Given the description of an element on the screen output the (x, y) to click on. 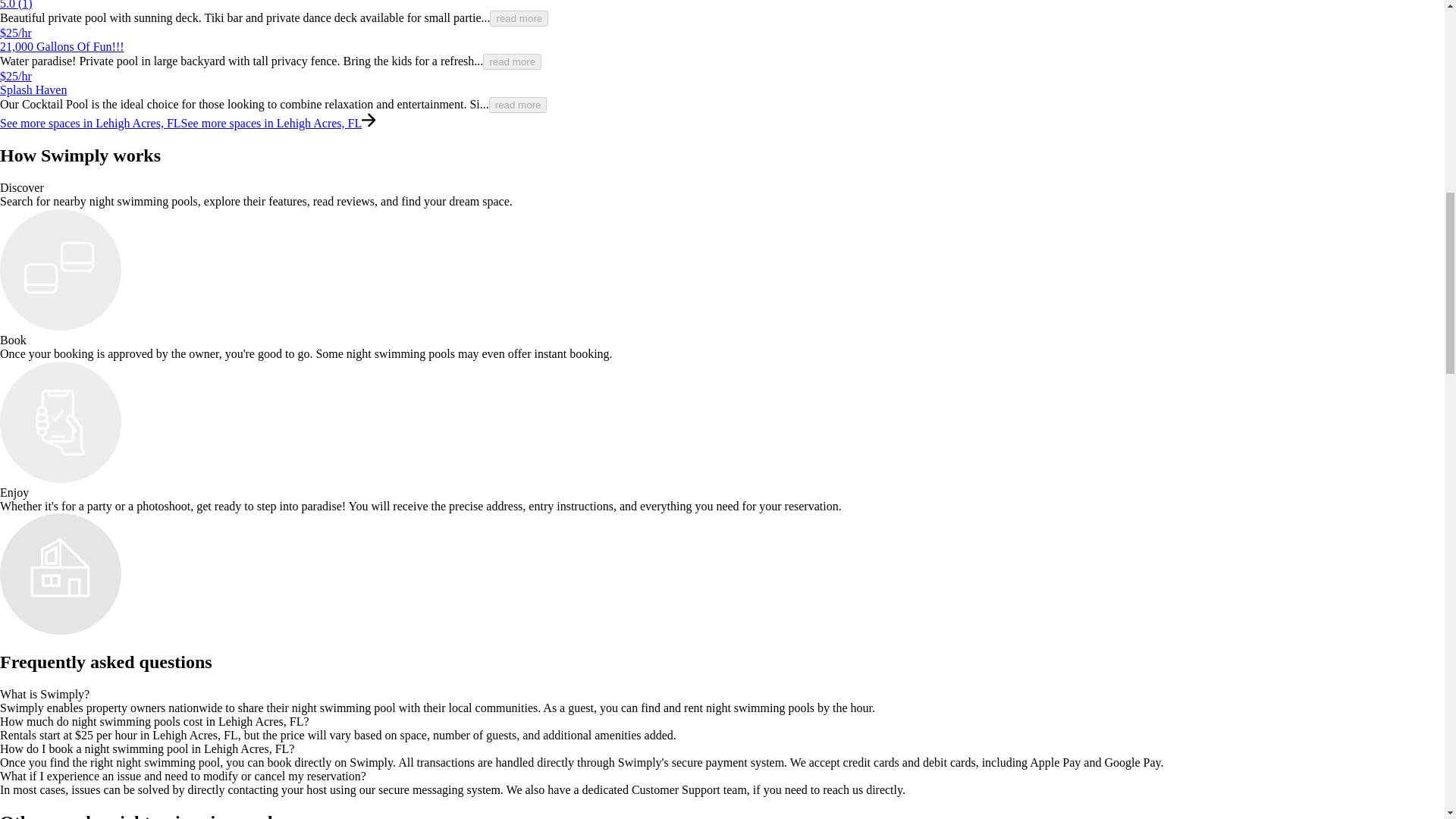
See more spaces in Lehigh Acres, FL (271, 123)
read more (518, 105)
read more (512, 61)
See more spaces in Lehigh Acres, FL (90, 123)
read more (518, 18)
